Given the description of an element on the screen output the (x, y) to click on. 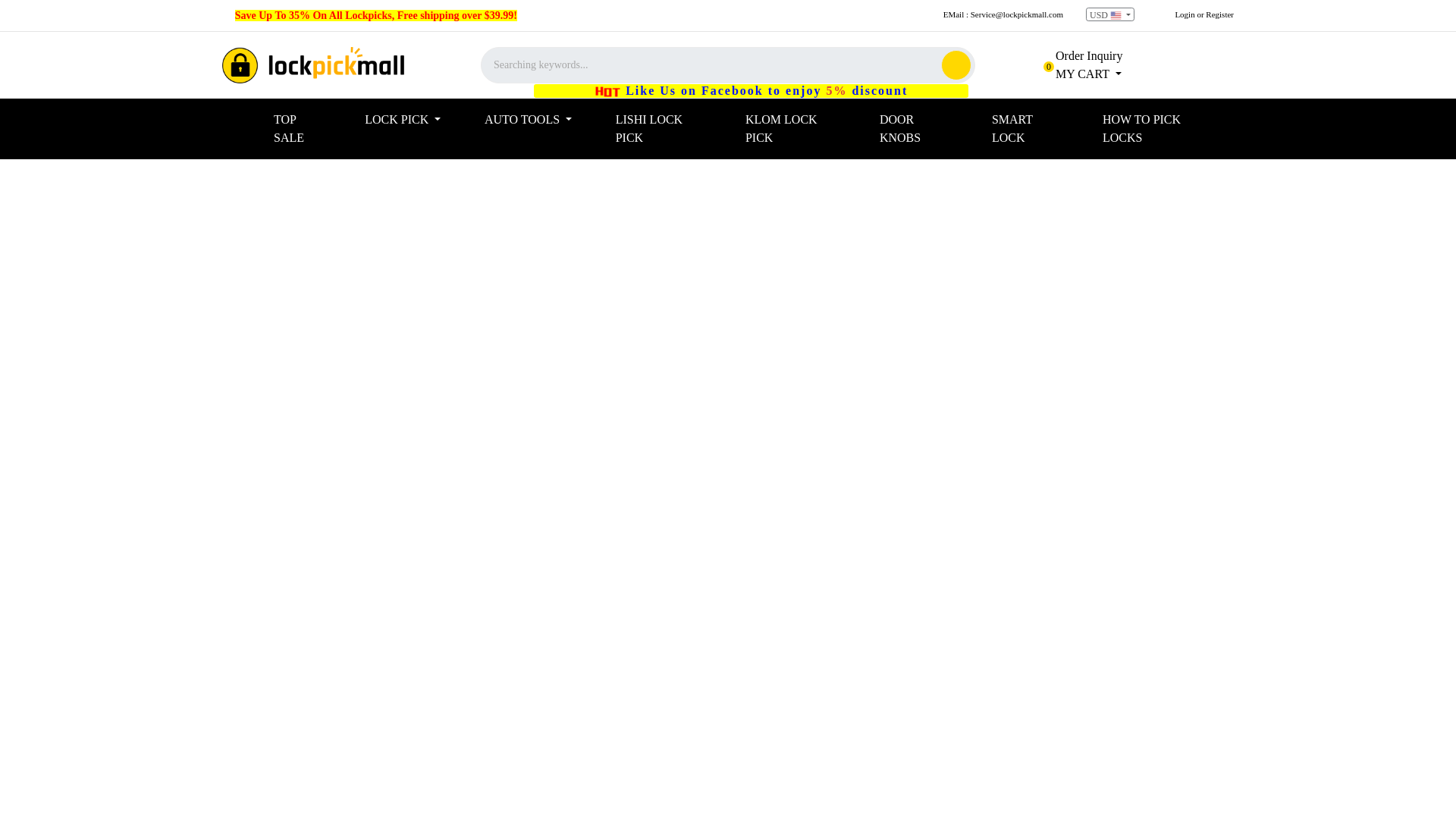
USD (1110, 14)
KLOM LOCK PICK (806, 128)
LOCK PICK (418, 119)
Register (1219, 13)
TOP SALE (1078, 73)
Lock Pick Set (312, 128)
Login (313, 64)
AUTO TOOLS (1183, 13)
Order Inquiry (544, 119)
